Given the description of an element on the screen output the (x, y) to click on. 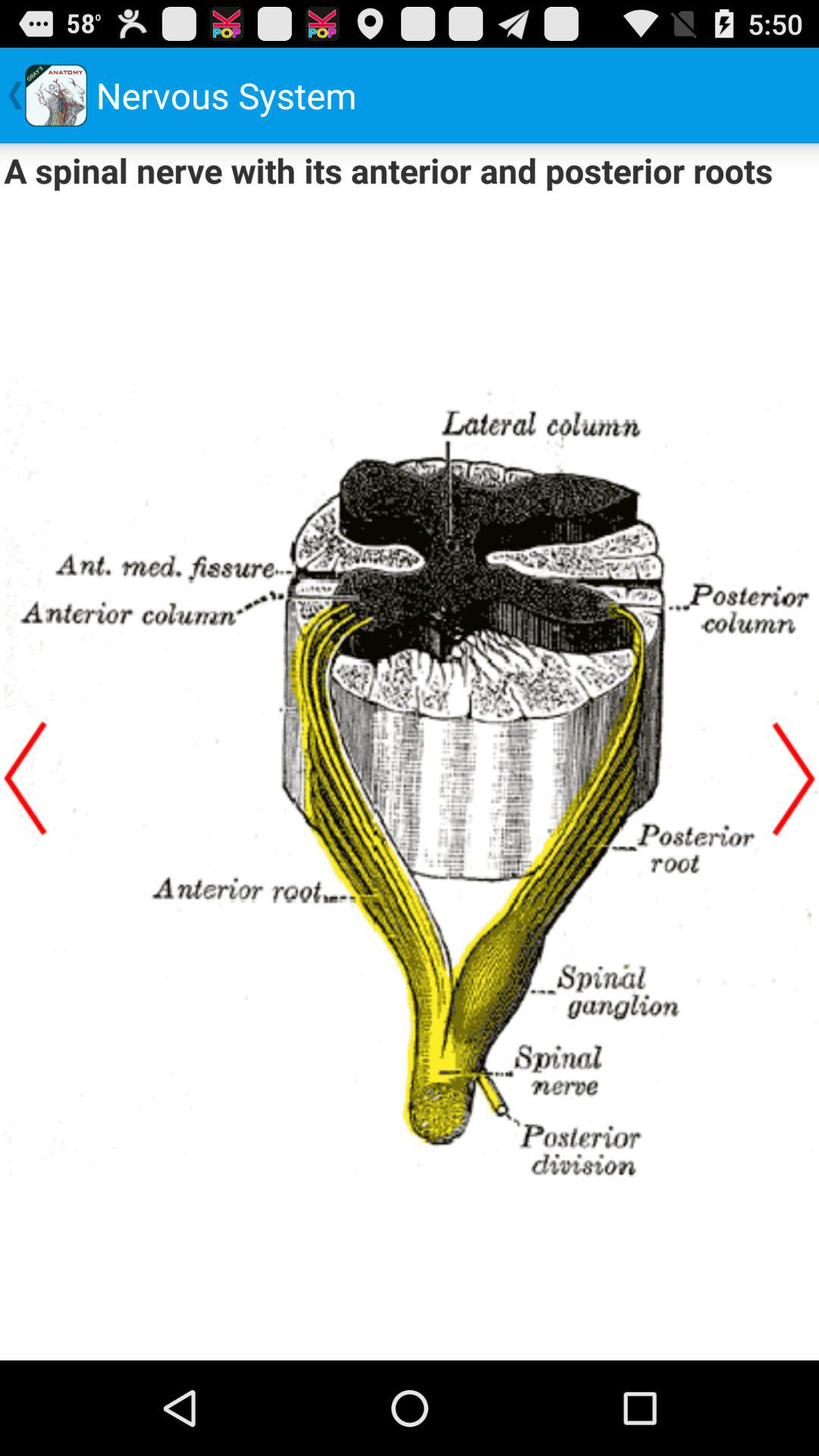
go to previous page (25, 778)
